Given the description of an element on the screen output the (x, y) to click on. 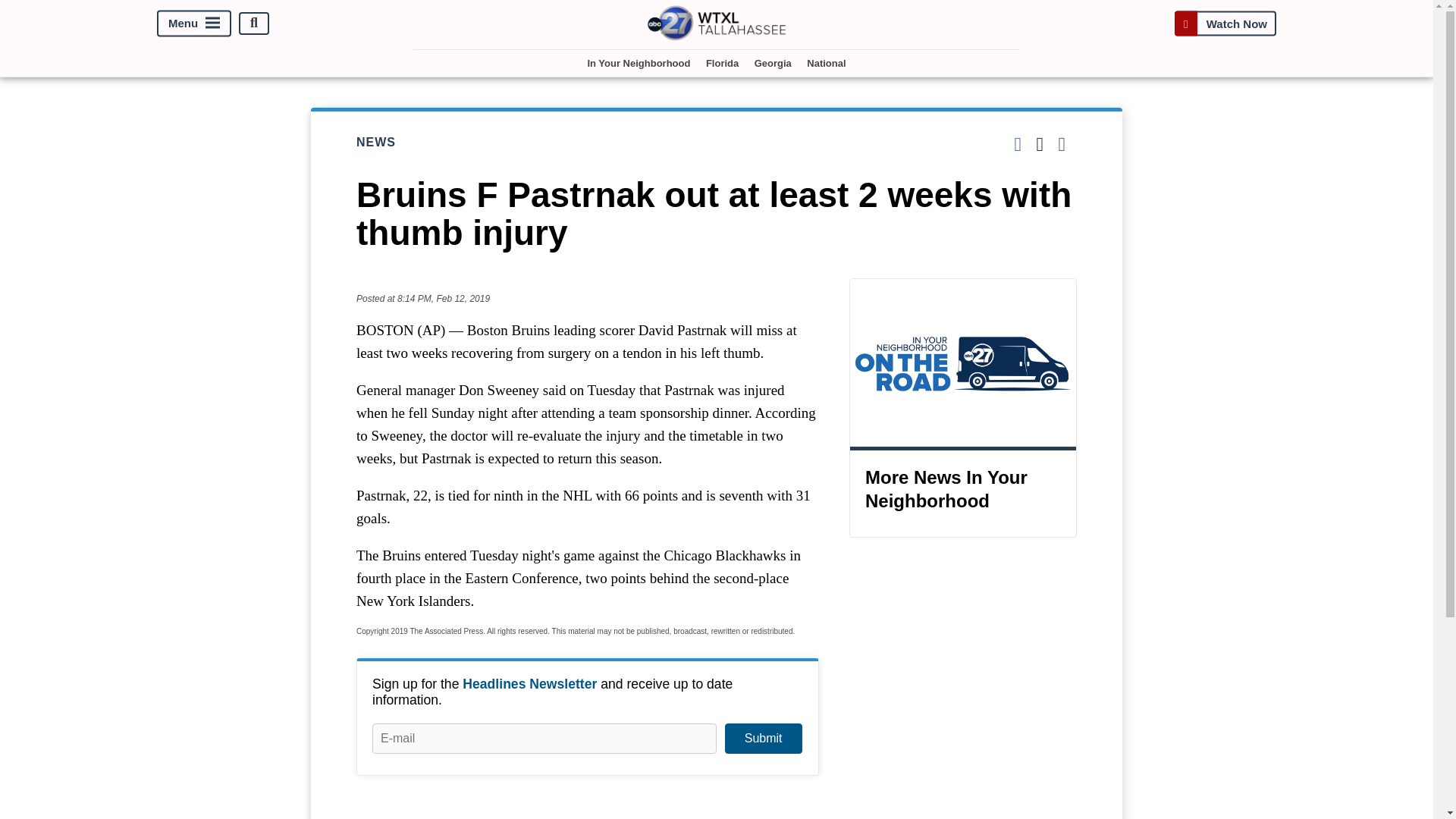
Submit (763, 738)
Watch Now (1224, 22)
Menu (194, 22)
